Given the description of an element on the screen output the (x, y) to click on. 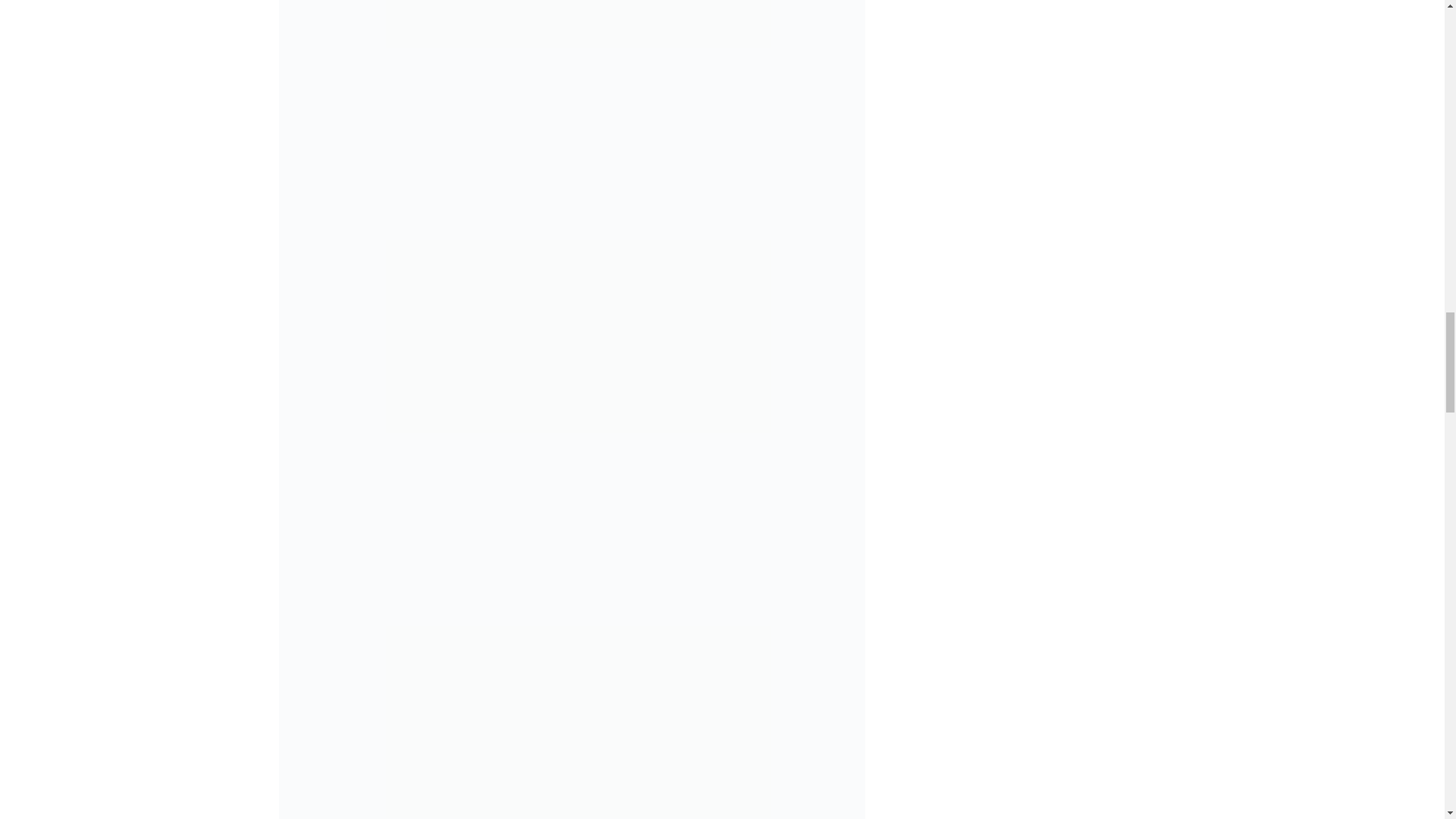
classes-2 (571, 38)
